Given the description of an element on the screen output the (x, y) to click on. 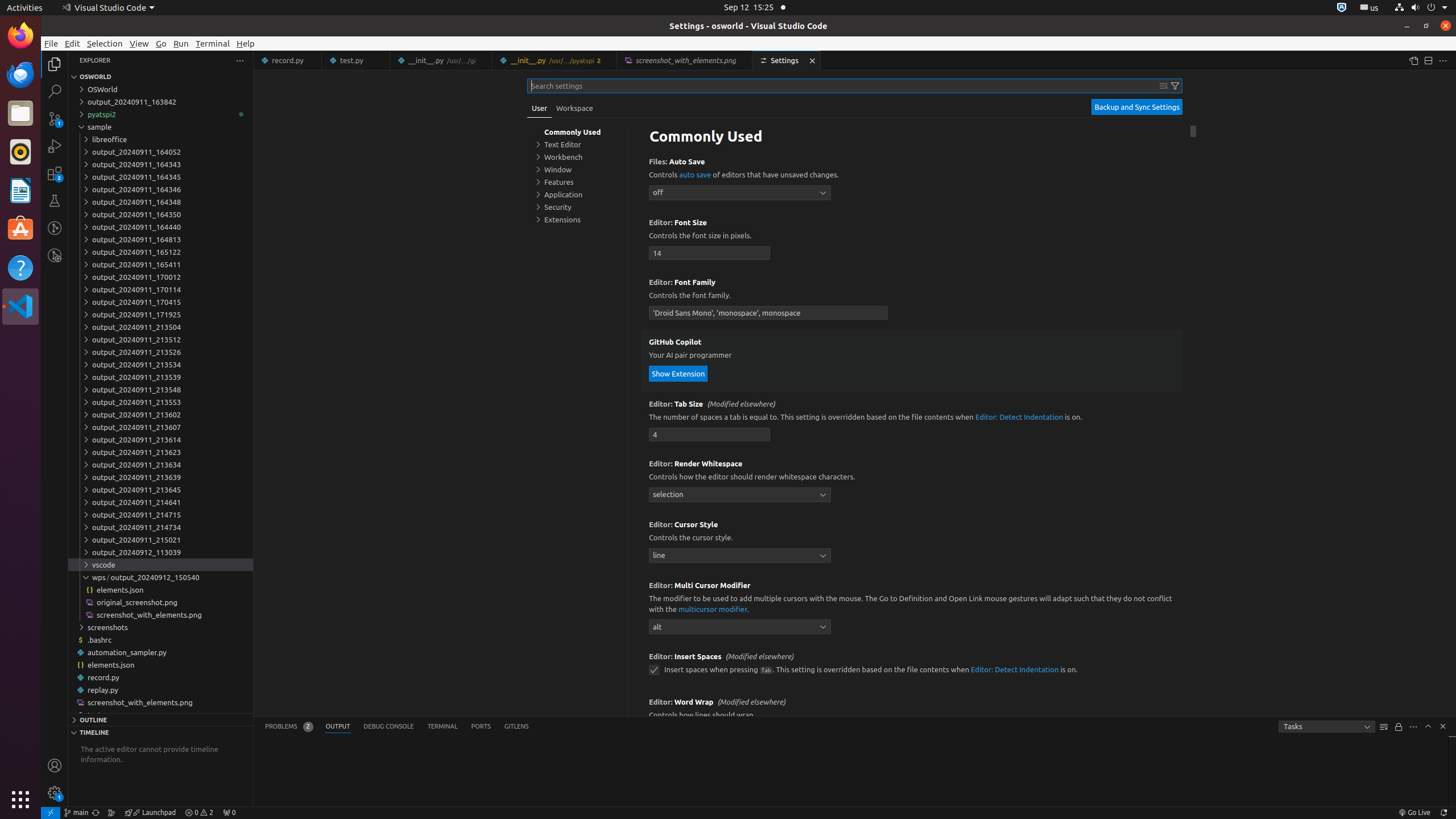
output_20240911_213512 Element type: tree-item (160, 339)
output_20240911_214641 Element type: tree-item (160, 501)
Show the GitLens Commit Graph Element type: push-button (111, 812)
Split Editor Right (Ctrl+\) [Alt] Split Editor Down Element type: push-button (1427, 60)
multicursor modifier Element type: link (712, 608)
